Given the description of an element on the screen output the (x, y) to click on. 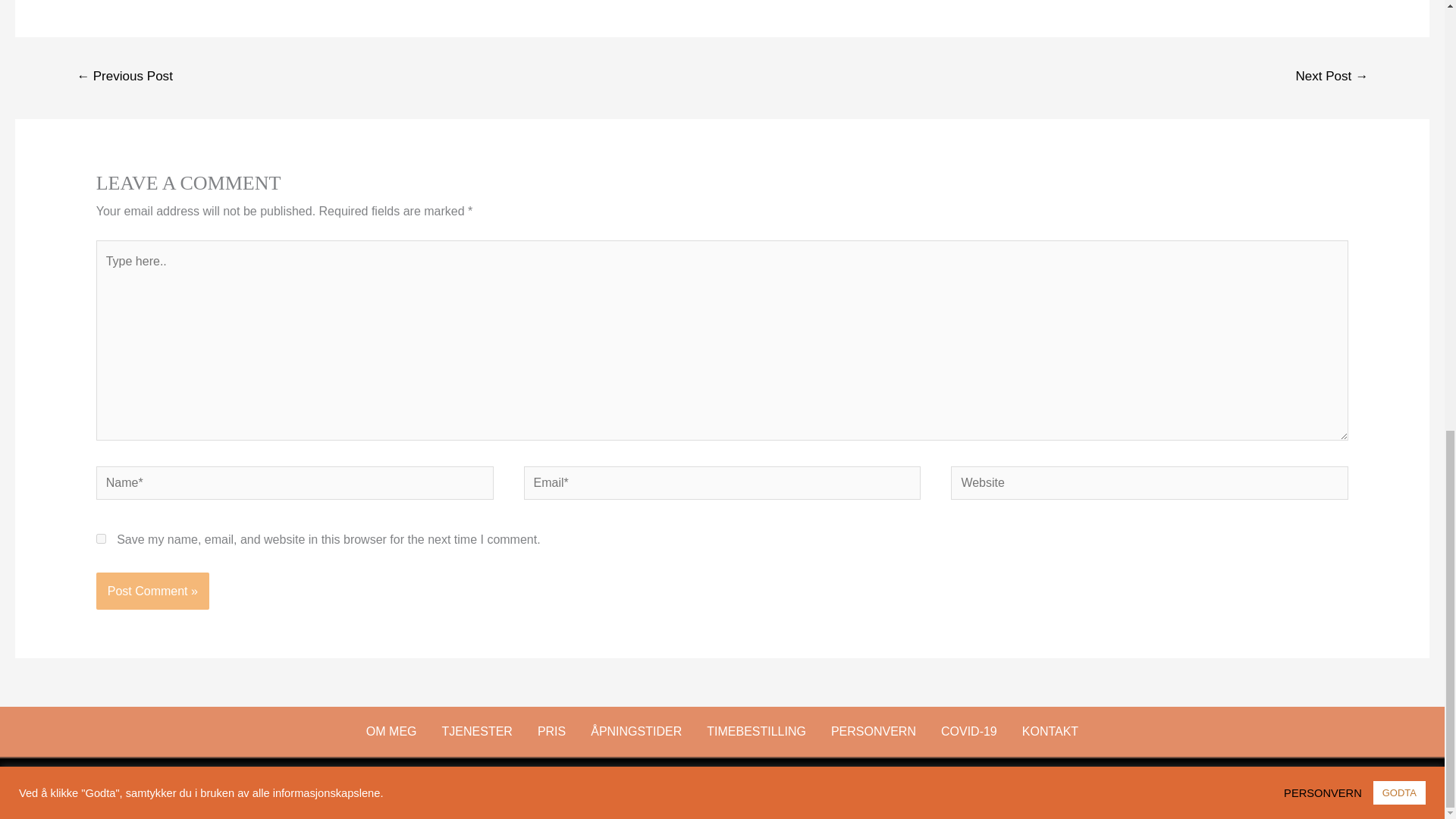
TIMEBESTILLING (755, 731)
PRIS (550, 731)
COVID-19 (969, 731)
TJENESTER (477, 731)
yes (101, 538)
PERSONVERN (873, 731)
KONTAKT (1049, 731)
OM MEG (391, 731)
